Given the description of an element on the screen output the (x, y) to click on. 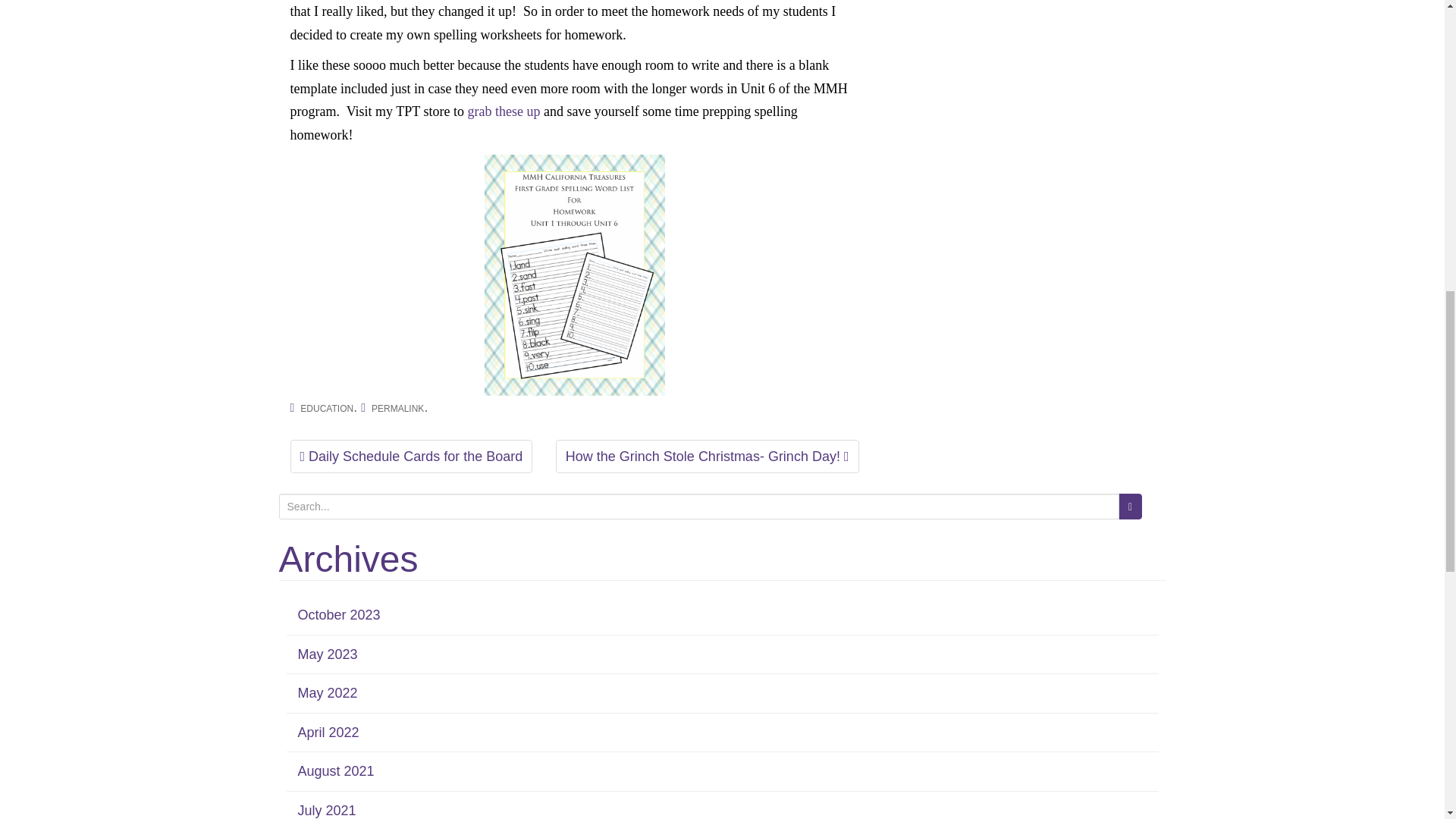
How the Grinch Stole Christmas- Grinch Day! (707, 456)
August 2021 (335, 770)
May 2022 (326, 693)
EDUCATION (326, 408)
PERMALINK (397, 408)
May 2023 (326, 654)
October 2023 (338, 614)
July 2021 (326, 810)
April 2022 (327, 732)
Daily Schedule Cards for the Board (410, 456)
